Given the description of an element on the screen output the (x, y) to click on. 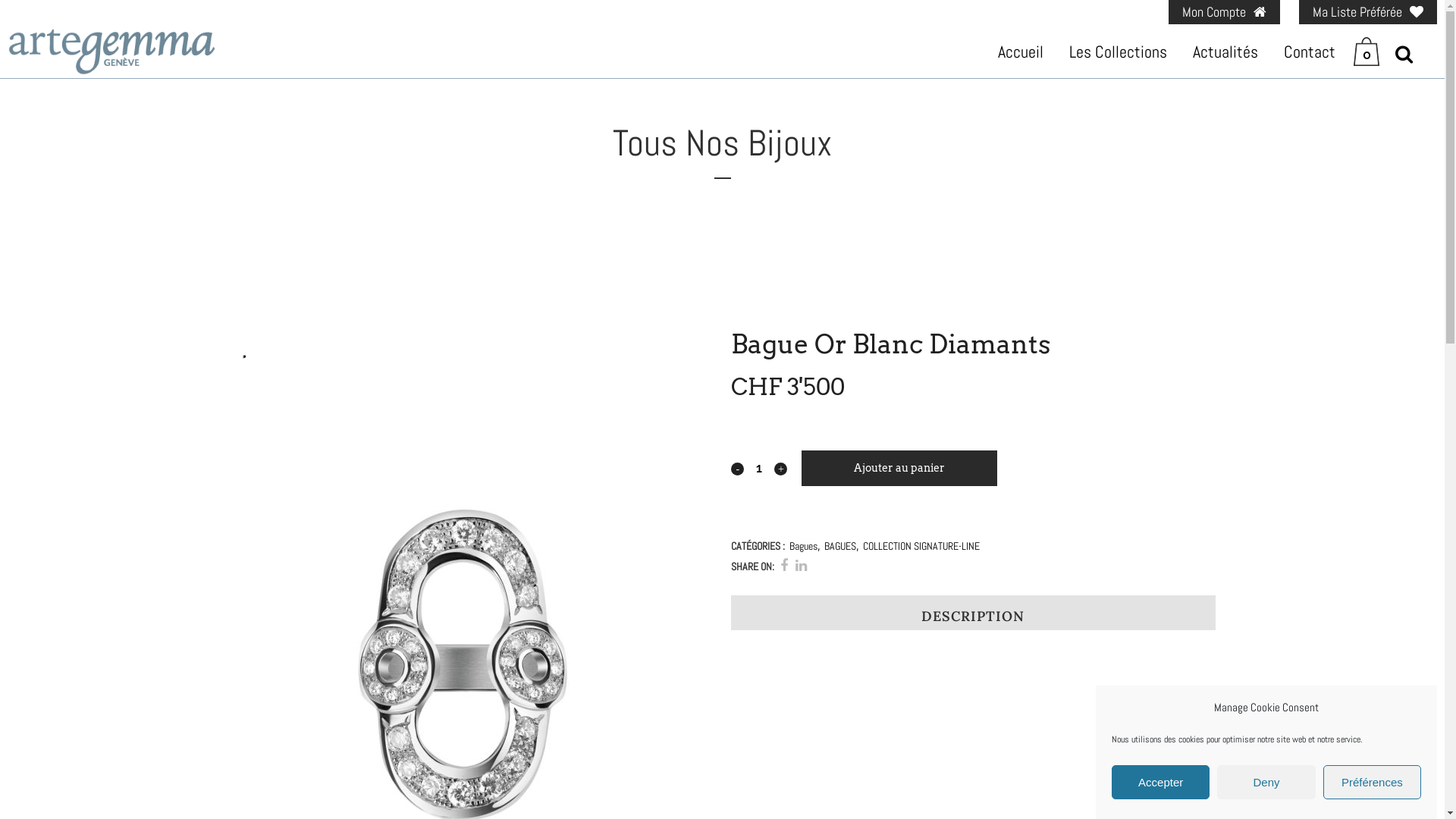
Qty Element type: hover (758, 467)
0 Element type: text (1369, 51)
Deny Element type: text (1265, 782)
Mon Compte Element type: text (1224, 12)
Accueil Element type: text (1020, 51)
Les Collections Element type: text (1117, 51)
Contact Element type: text (1309, 51)
Ajouter au panier Element type: text (899, 468)
Accepter Element type: text (1160, 782)
Share on Facebook Element type: hover (783, 565)
BAGUES Element type: text (840, 545)
COLLECTION SIGNATURE-LINE Element type: text (920, 545)
Bagues Element type: text (803, 545)
